Given the description of an element on the screen output the (x, y) to click on. 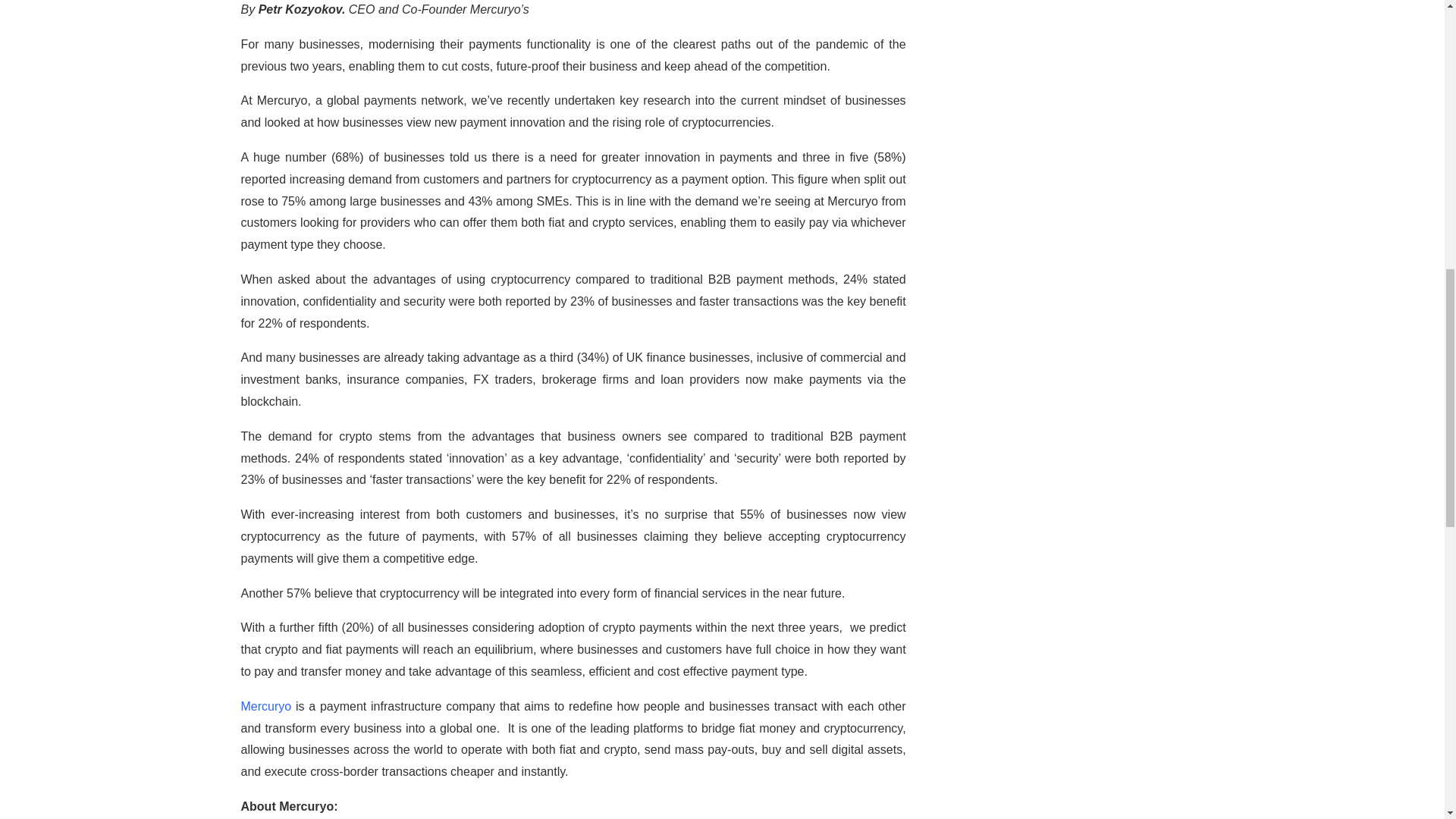
Mercuryo (266, 706)
